Given the description of an element on the screen output the (x, y) to click on. 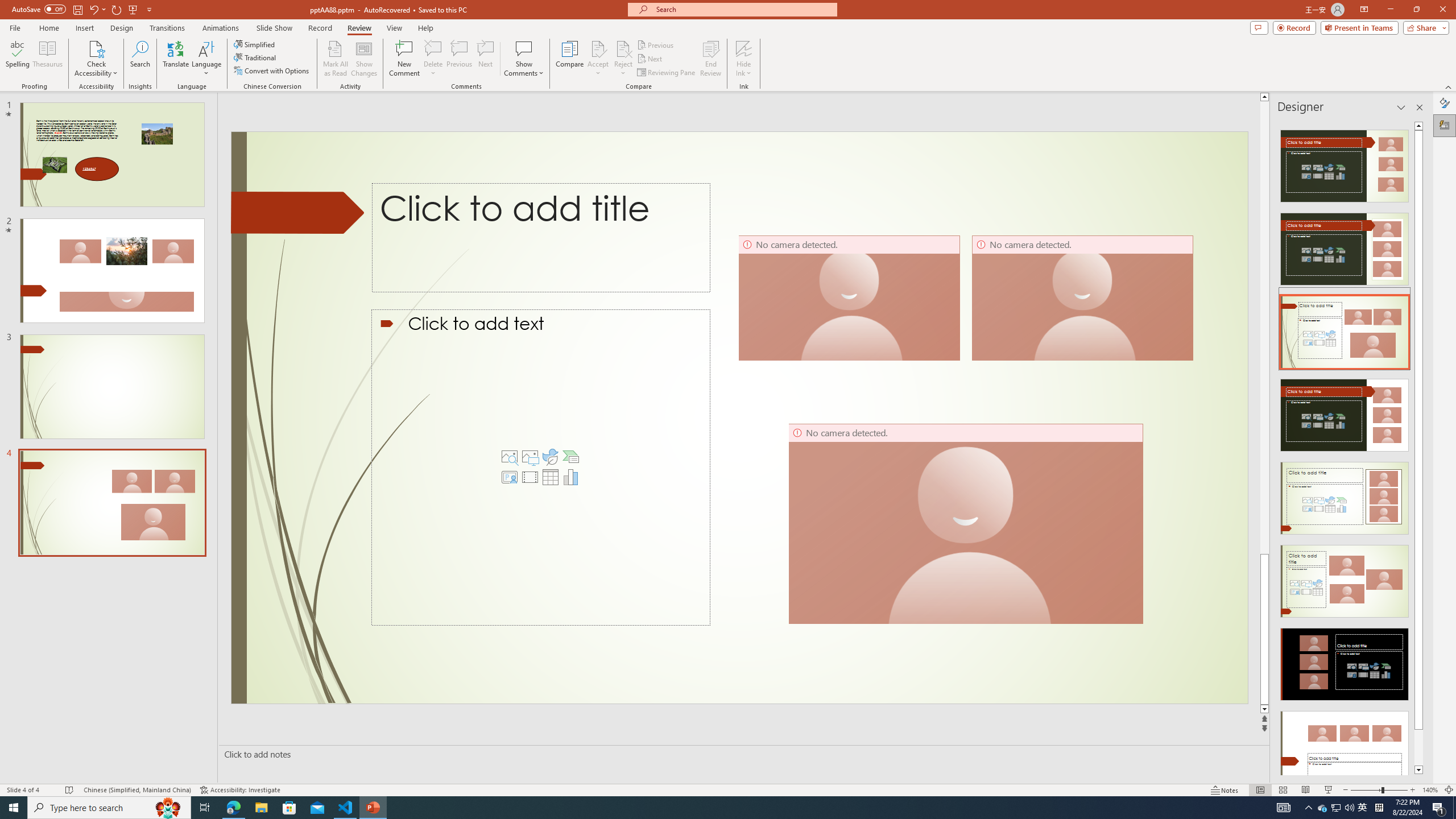
Camera 3, No camera detected. (1082, 298)
Translate (175, 58)
Traditional (255, 56)
End Review (710, 58)
Hide Ink (743, 48)
Previous (655, 44)
